Given the description of an element on the screen output the (x, y) to click on. 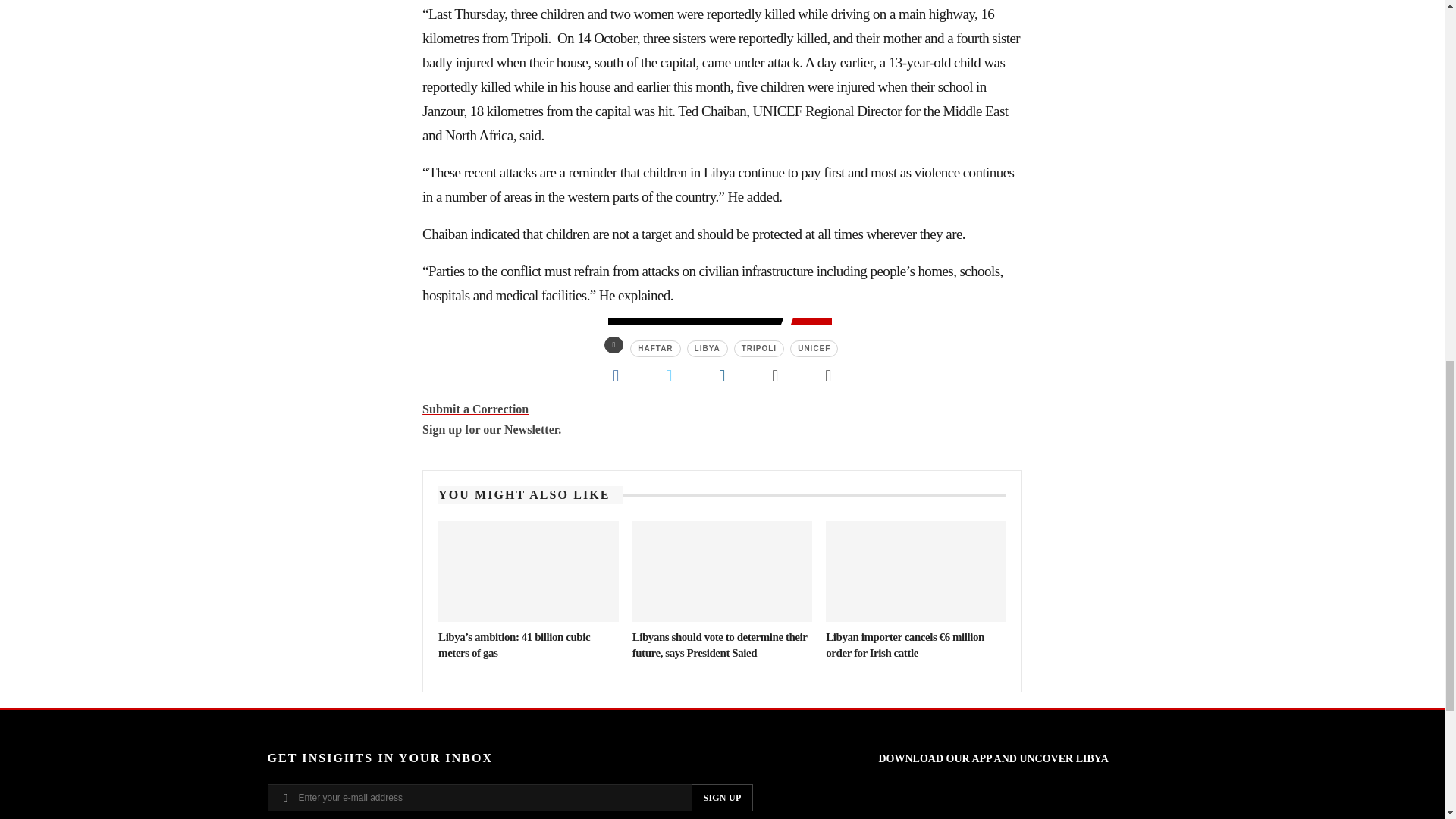
UNICEF (814, 348)
TRIPOLI (758, 348)
HAFTAR (654, 348)
LIBYA (707, 348)
Sign Up (721, 797)
